Given the description of an element on the screen output the (x, y) to click on. 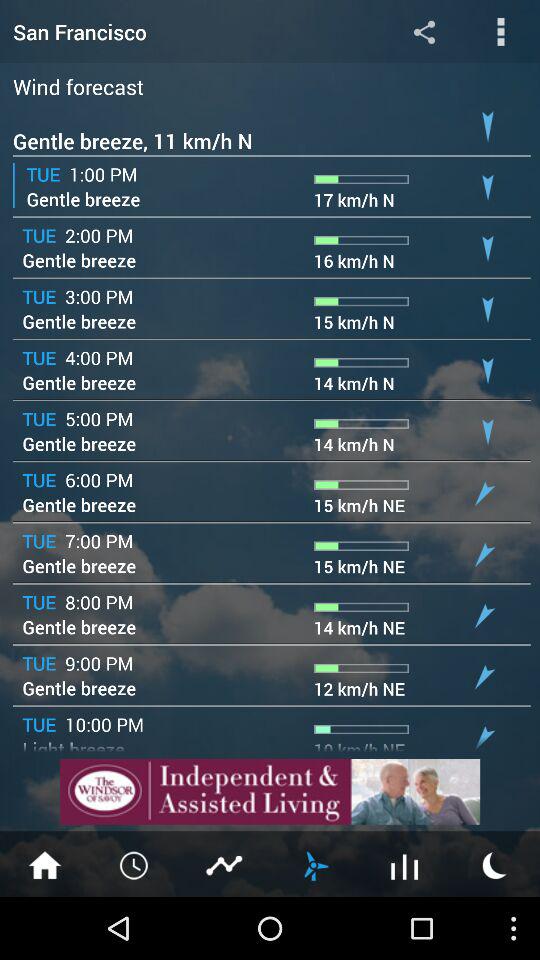
wind speeds (315, 864)
